Given the description of an element on the screen output the (x, y) to click on. 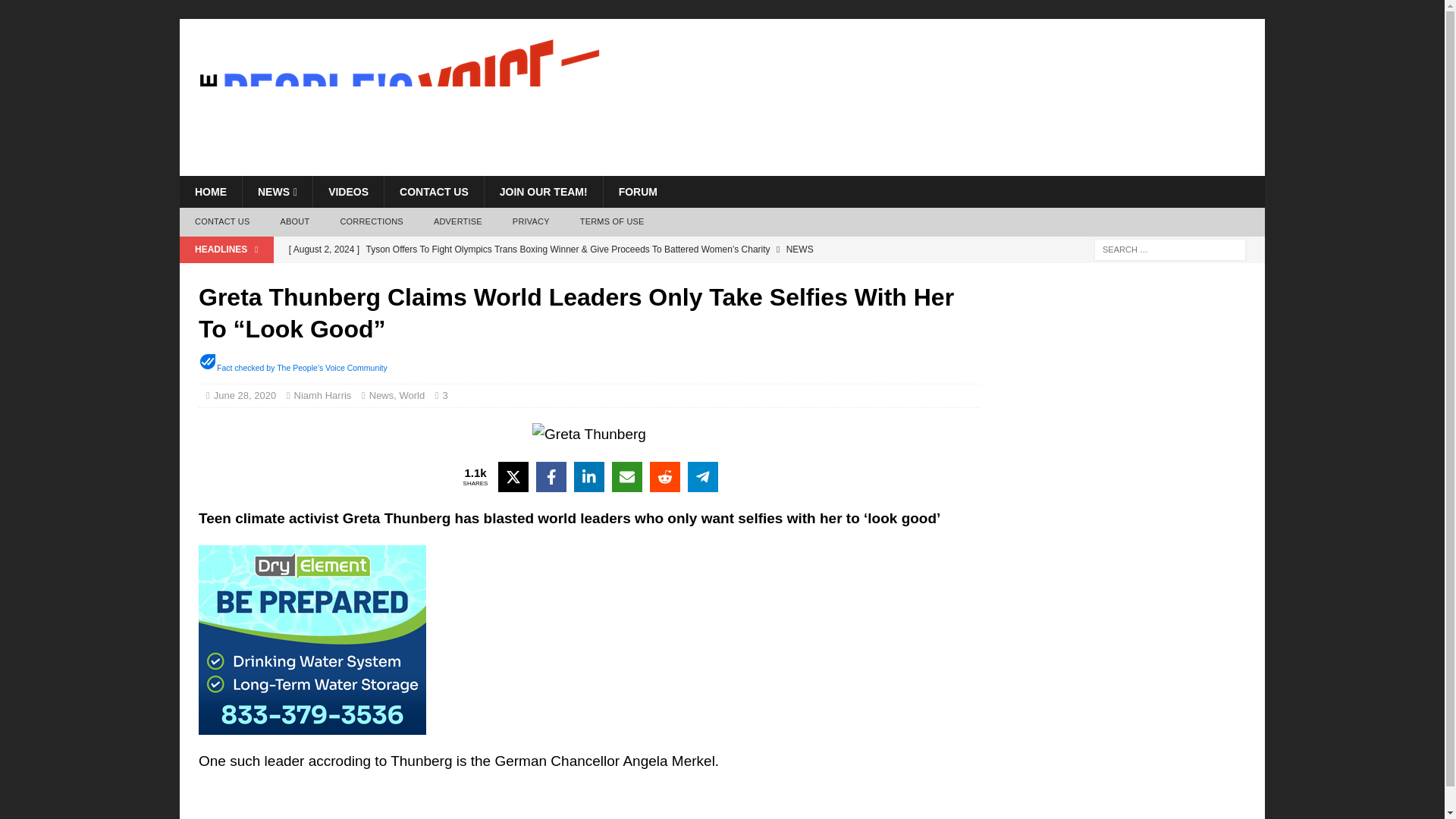
Search (56, 11)
HOME (210, 192)
CONTACT US (221, 222)
CORRECTIONS (370, 222)
3 (448, 395)
ABOUT (294, 222)
World (411, 395)
News (381, 395)
Fact checked by The People's Voice Community (301, 367)
Niamh Harris (323, 395)
JOIN OUR TEAM! (542, 192)
ADVERTISE (458, 222)
NEWS (277, 192)
VIDEOS (348, 192)
Trump Says Harris Only Recently Turned Black (583, 275)
